Given the description of an element on the screen output the (x, y) to click on. 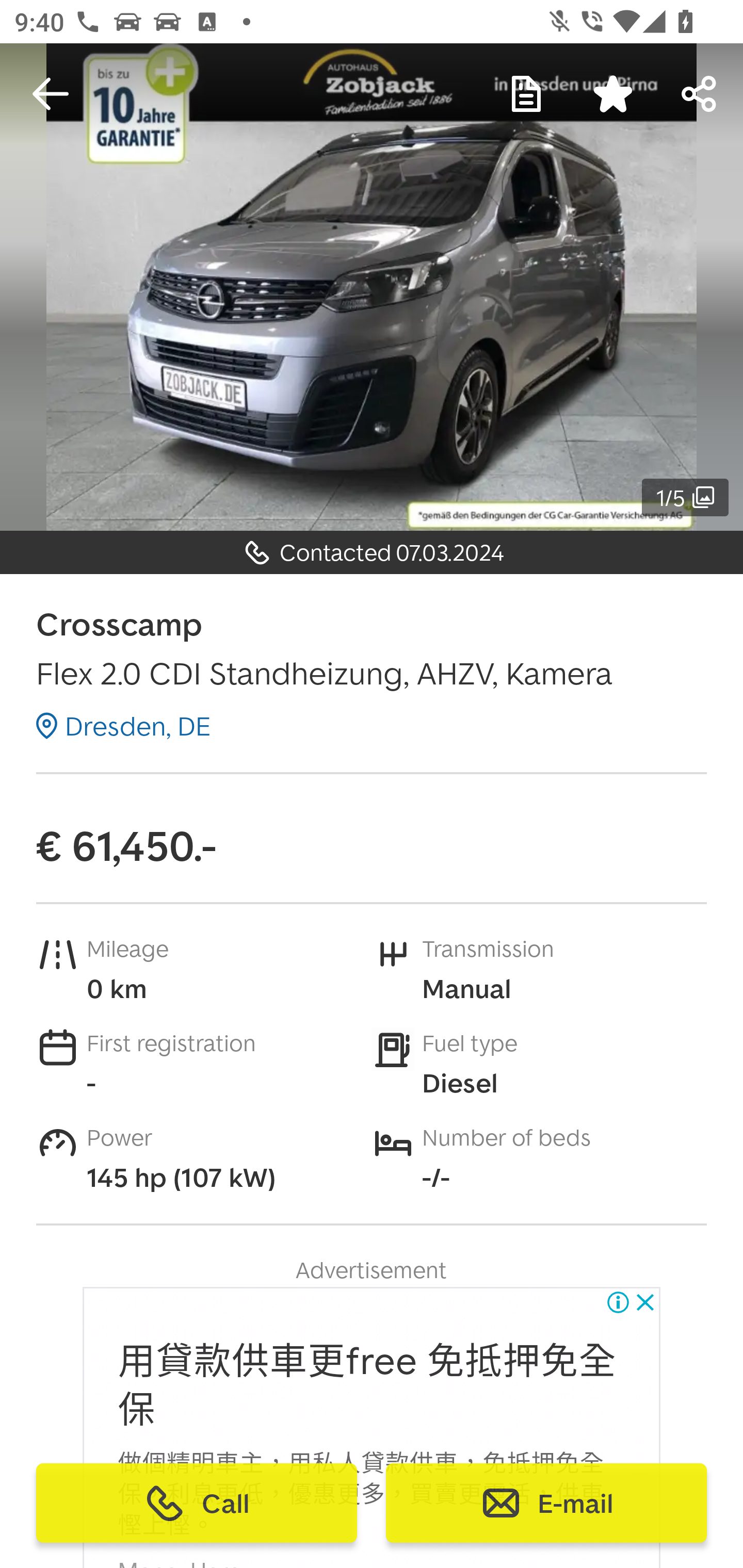
Navigate up (50, 93)
My Notes (525, 93)
Saved (612, 93)
Forward (699, 93)
Dresden, DE (123, 725)
用貸款供車更free 免抵押免全 保 用貸款供車更free 免抵押免全 保 (366, 1385)
Call (196, 1502)
E-mail (545, 1502)
